Given the description of an element on the screen output the (x, y) to click on. 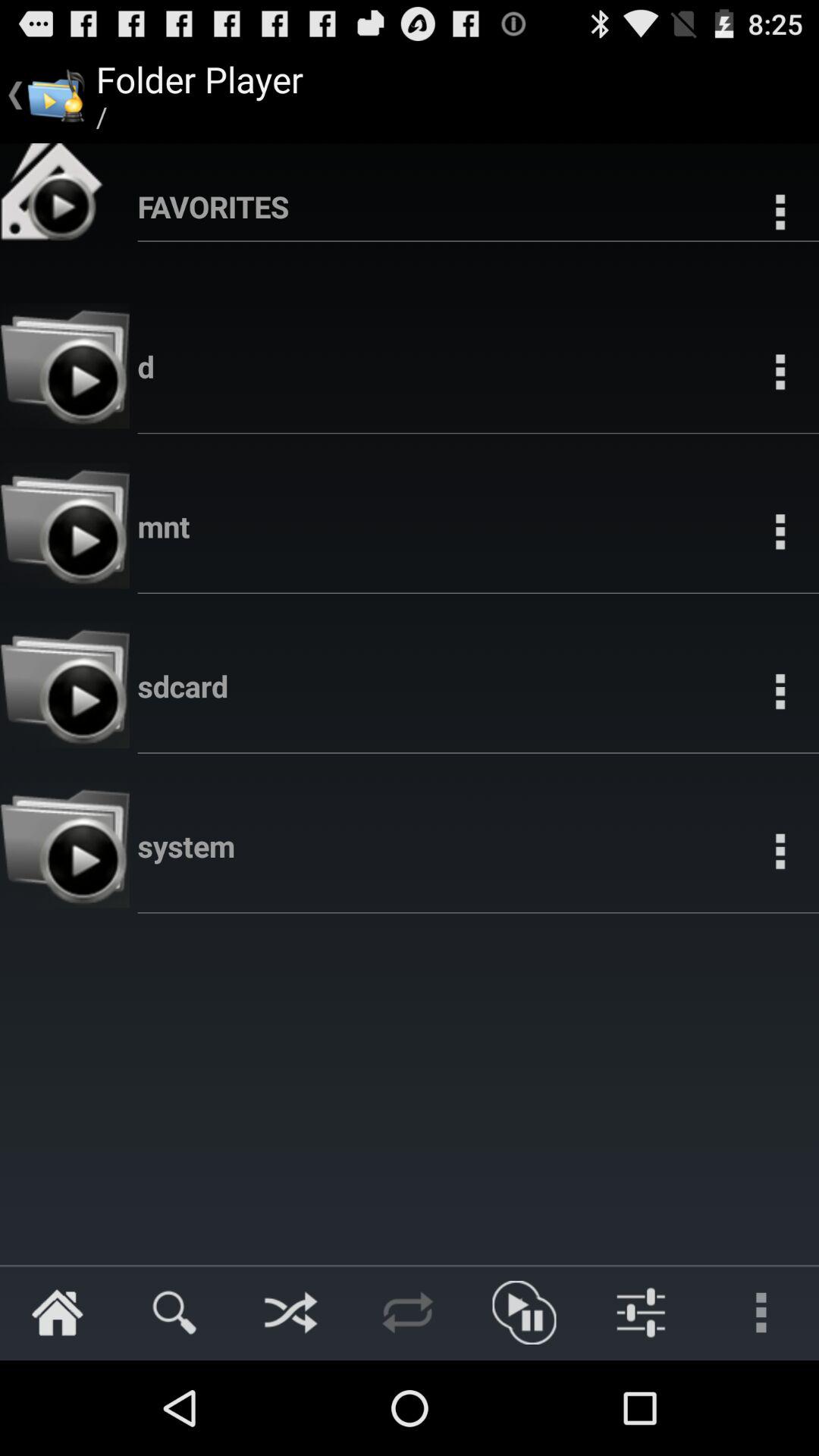
click on the more button in mnt (779, 530)
go to the second image from left at the bottom of the page (641, 1312)
click the three dots button on the right next to the folder system on the web page (779, 849)
